Given the description of an element on the screen output the (x, y) to click on. 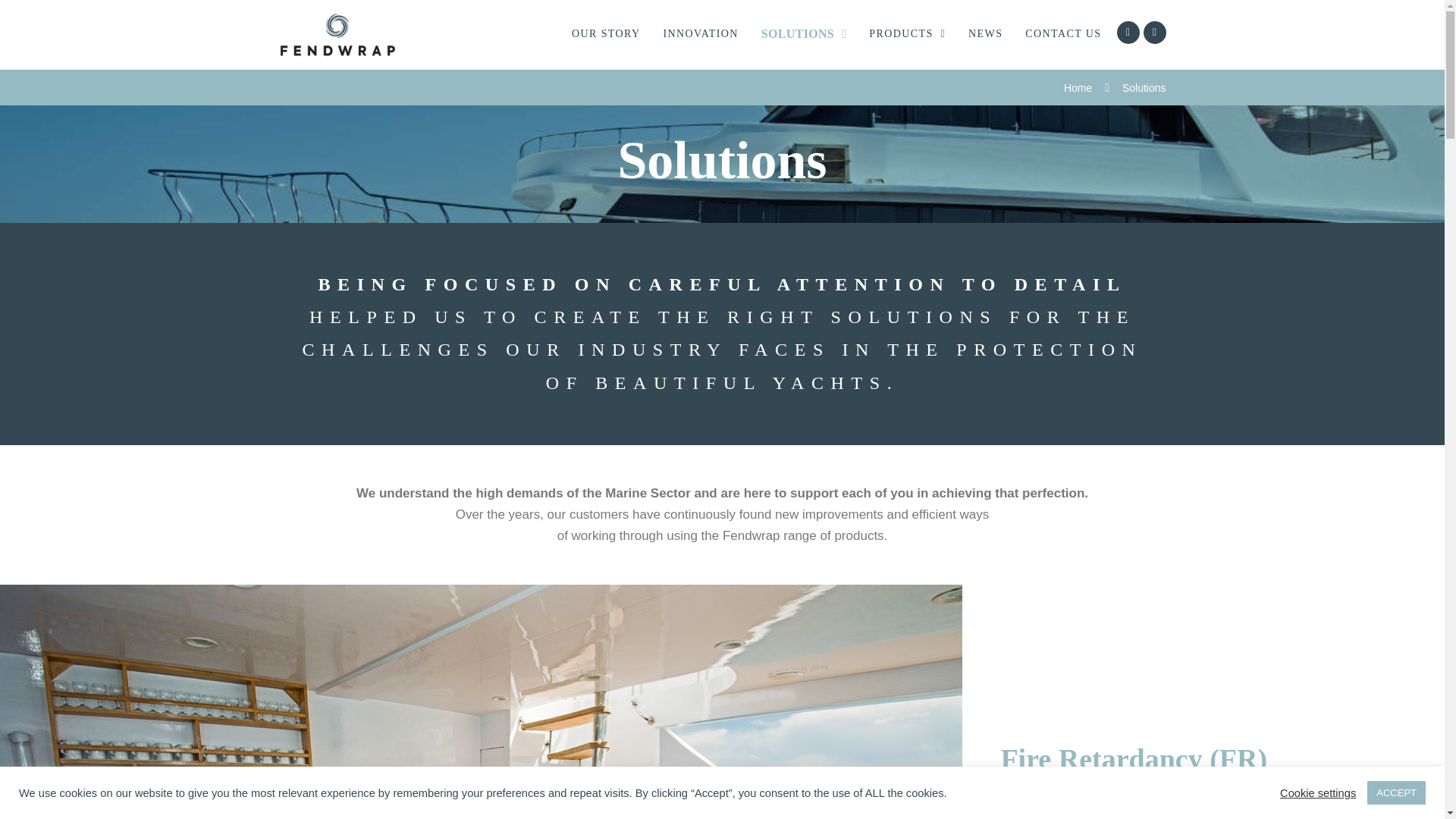
PRODUCTS (906, 33)
CONTACT US (1062, 33)
OUR STORY (606, 33)
NEWS (985, 33)
INNOVATION (700, 33)
SOLUTIONS (803, 33)
Home (1078, 87)
Fendwrap (337, 34)
